Given the description of an element on the screen output the (x, y) to click on. 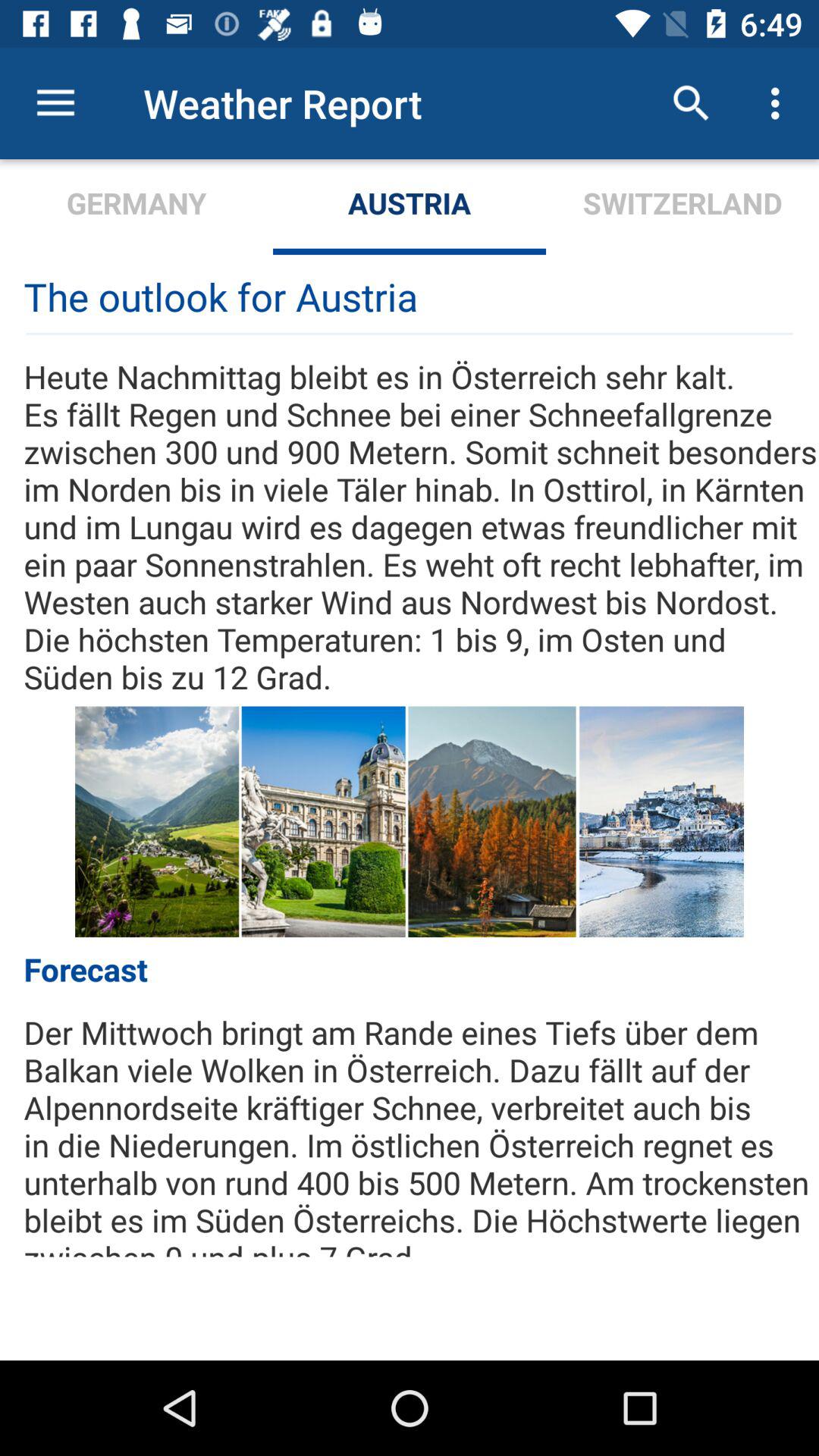
tap the switzerland (682, 206)
